Given the description of an element on the screen output the (x, y) to click on. 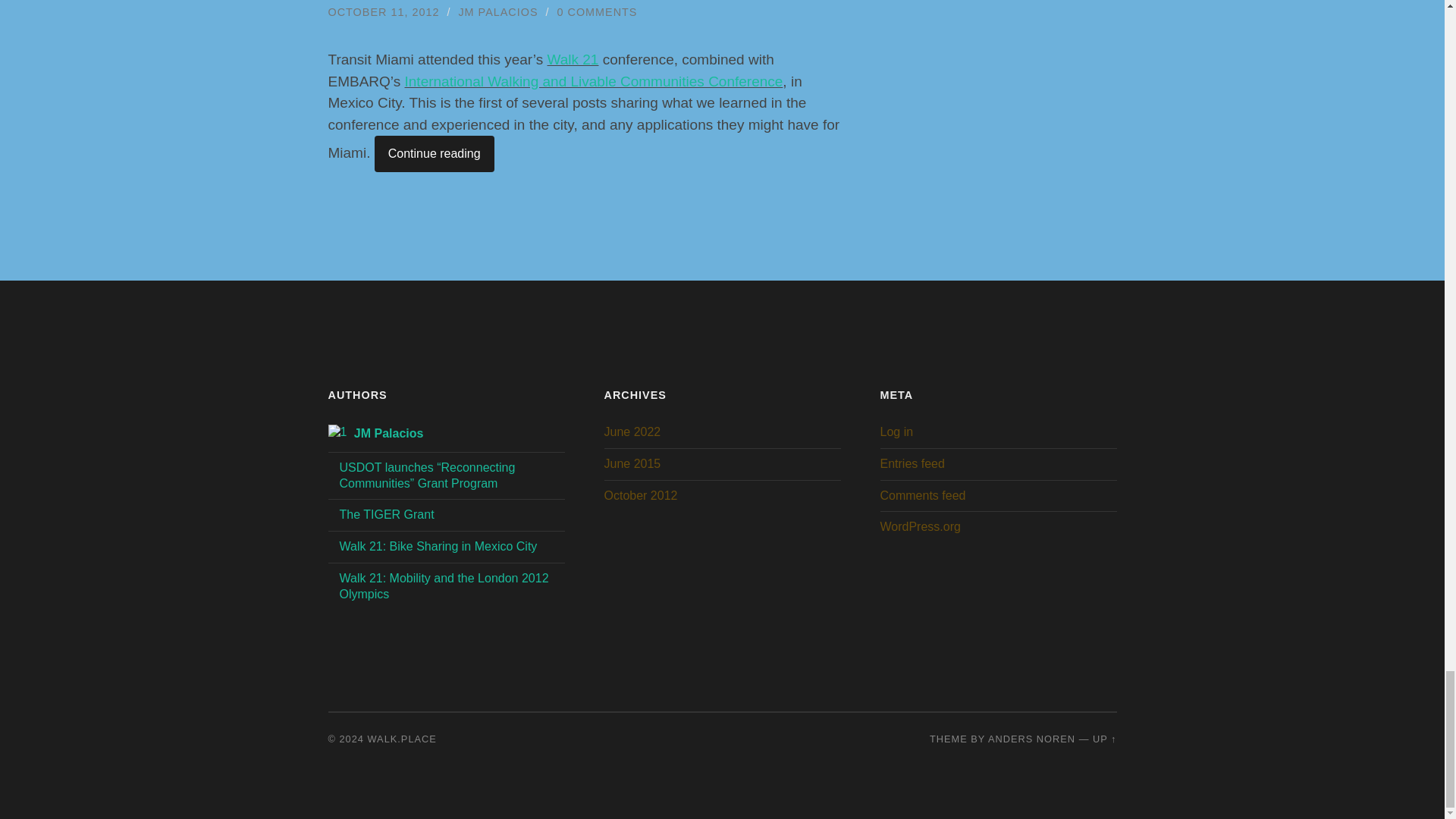
OCTOBER 11, 2012 (383, 11)
To the top (1104, 738)
The TIGER Grant (386, 513)
Walk 21: Bike Sharing in Mexico City (438, 545)
International Walking and Livable Communities Conference (593, 81)
Posts by JM Palacios (497, 11)
Continue reading (434, 153)
Walk 21 (572, 59)
JM PALACIOS (497, 11)
0 COMMENTS (597, 11)
